Given the description of an element on the screen output the (x, y) to click on. 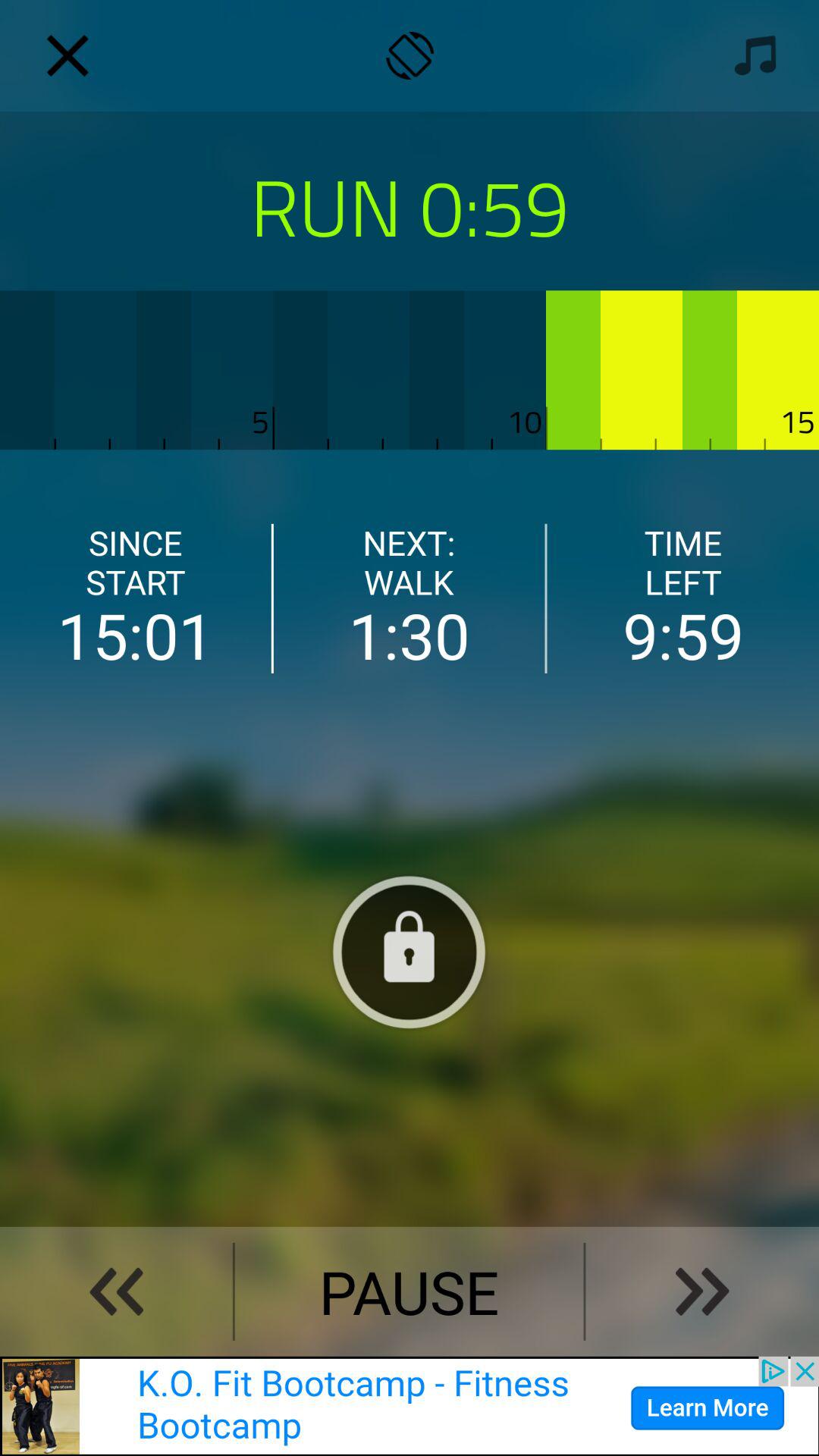
go to the advertisement (409, 1406)
